Given the description of an element on the screen output the (x, y) to click on. 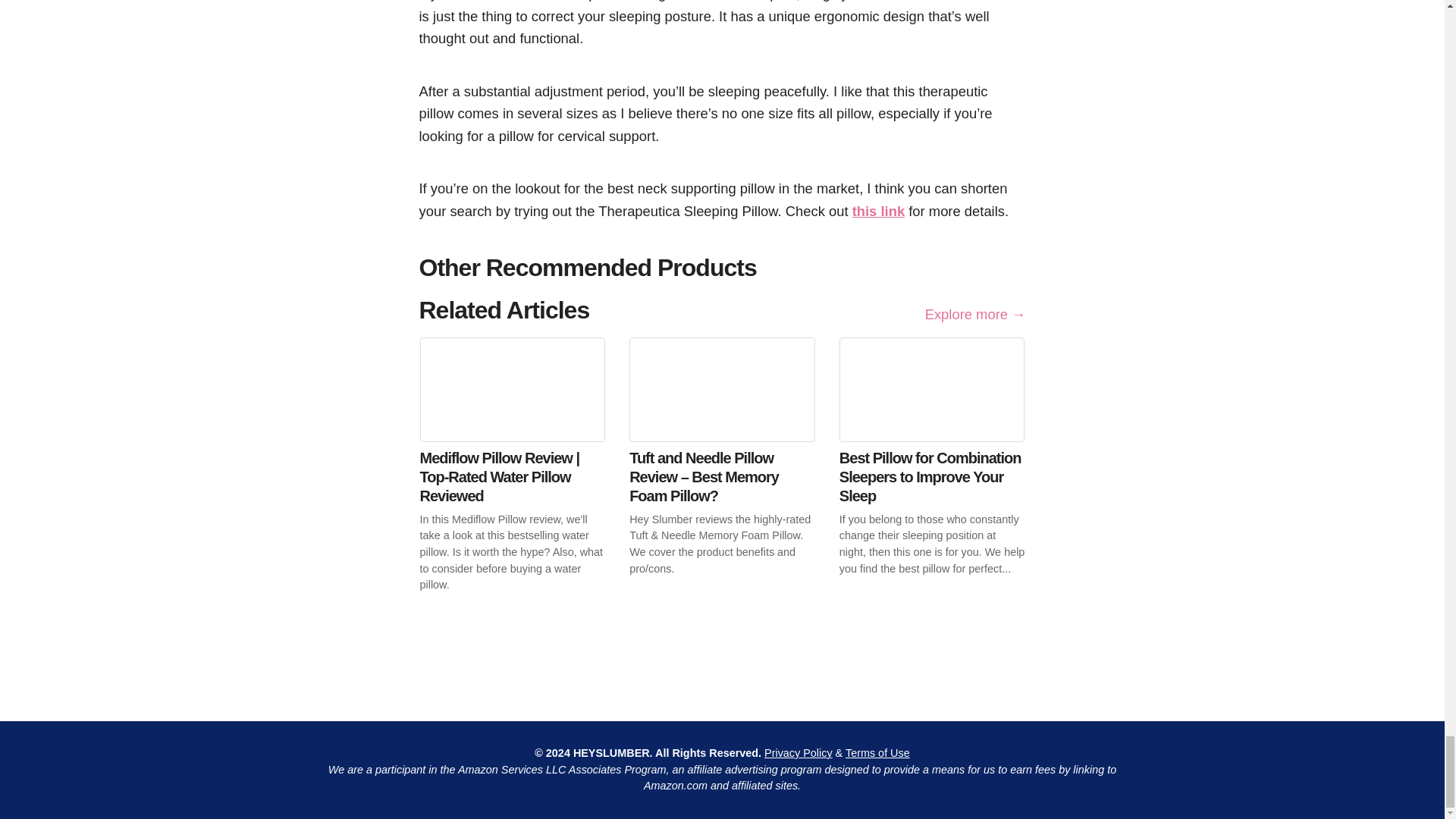
Privacy Policy (798, 752)
this link (878, 211)
Terms of Use (877, 752)
